Given the description of an element on the screen output the (x, y) to click on. 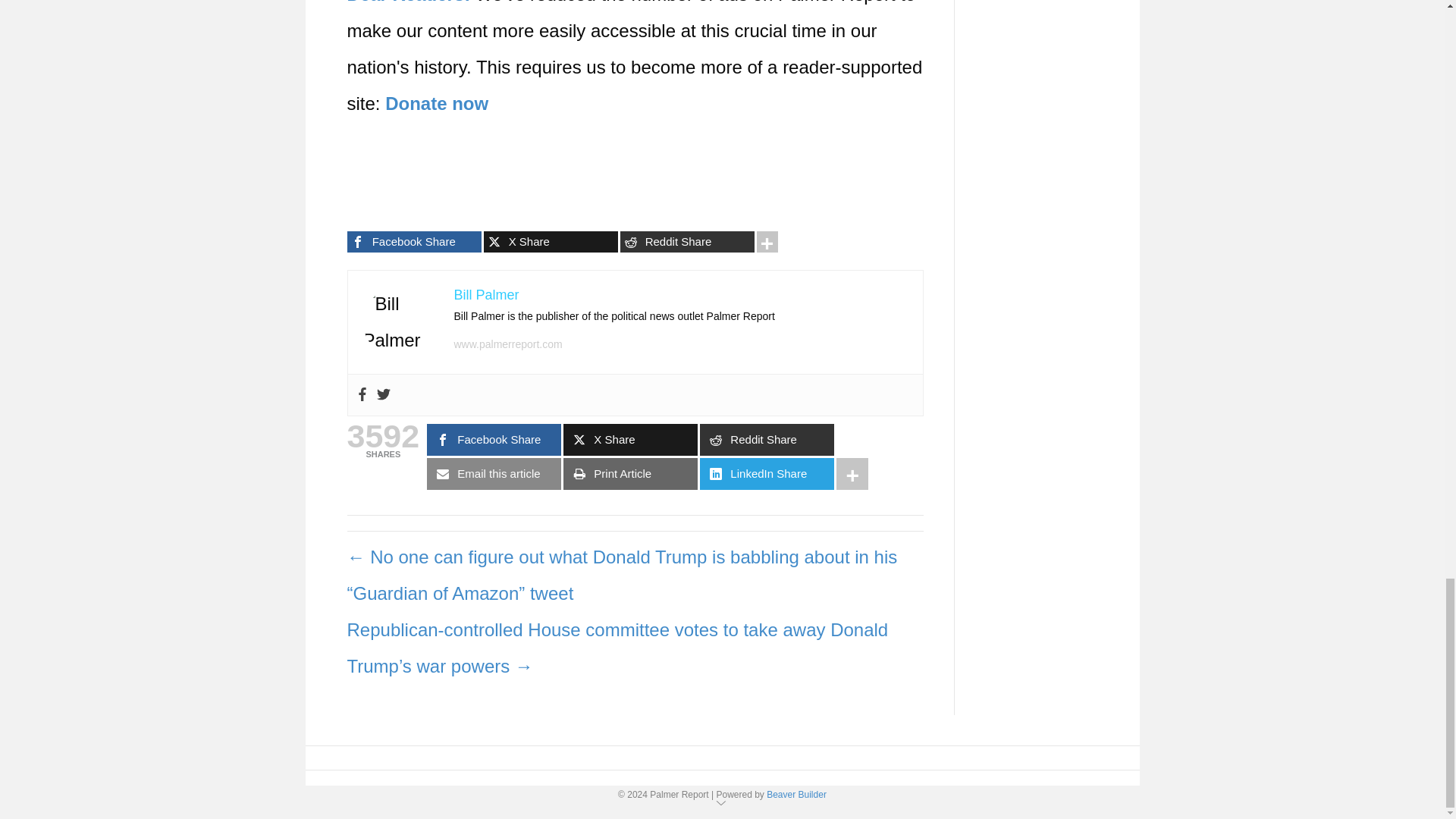
X Share (550, 241)
Reddit Share (687, 241)
Donate now (436, 103)
Facebook Share (414, 241)
WordPress Page Builder Plugin (797, 794)
Dear Readers: (408, 2)
